Given the description of an element on the screen output the (x, y) to click on. 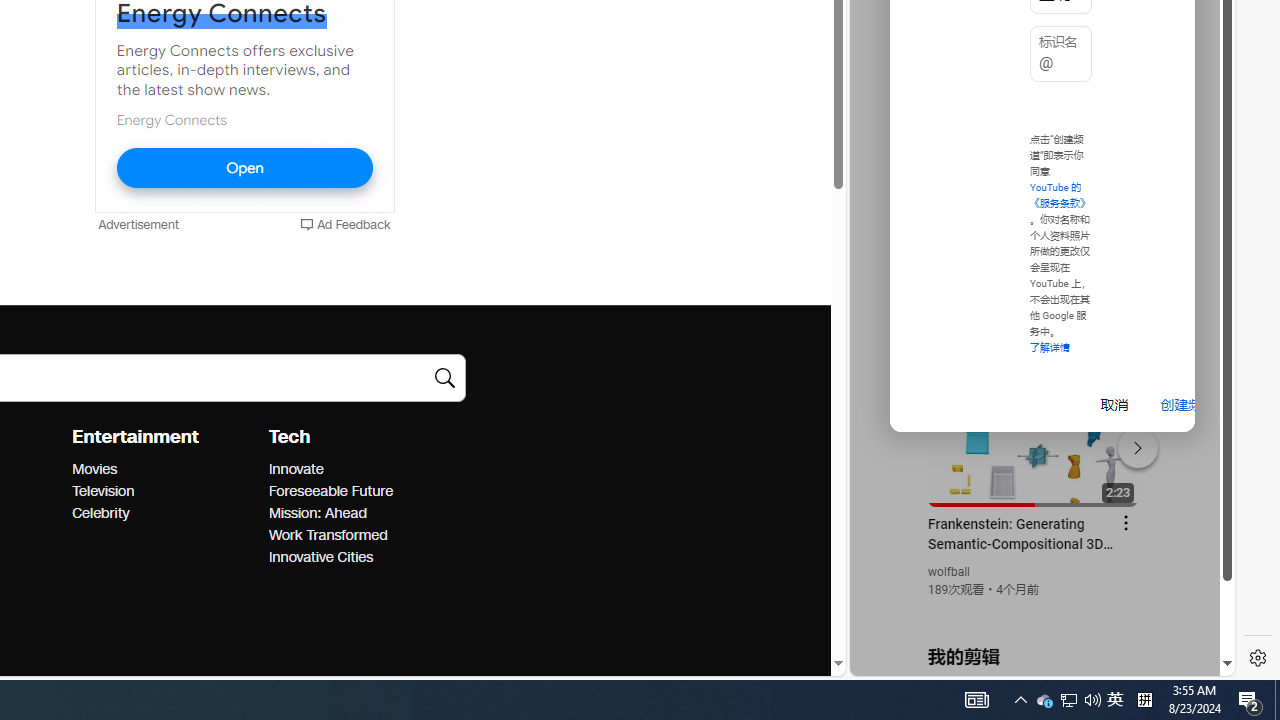
Click to scroll right (1196, 83)
Work Transformed (360, 536)
Foreseeable Future (360, 492)
Tech (289, 437)
Tech Innovate (295, 469)
Tech Innovative Cities (320, 557)
YouTube (1034, 432)
Submit (443, 377)
US[ju] (917, 660)
